Given the description of an element on the screen output the (x, y) to click on. 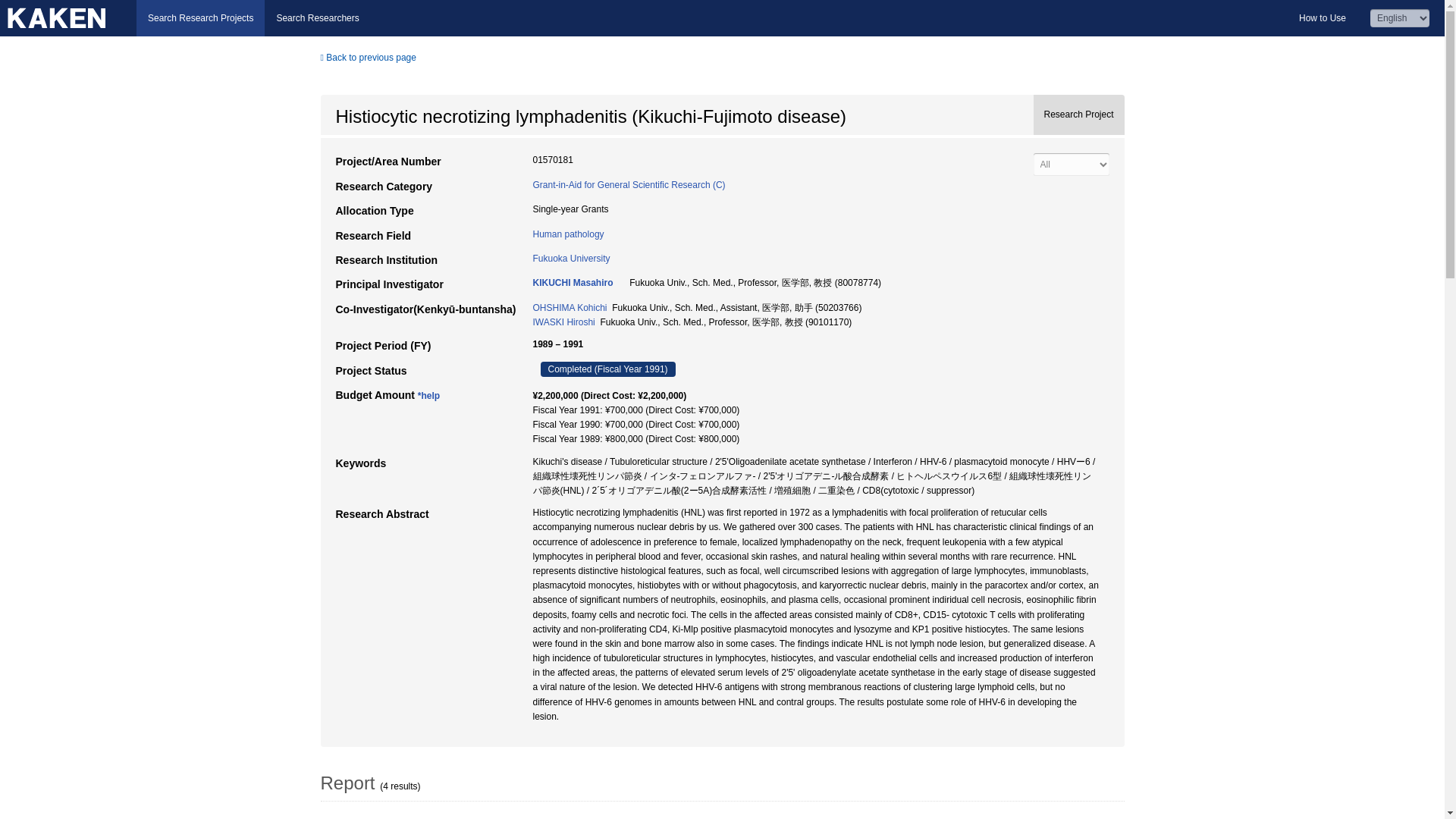
Back to previous page (367, 57)
KIKUCHI Masahiro (572, 282)
Search Research Projects (200, 18)
Fukuoka University (571, 258)
How to Use (1321, 18)
IWASKI Hiroshi (563, 321)
Human pathology (568, 234)
Search Researchers (316, 18)
